Given the description of an element on the screen output the (x, y) to click on. 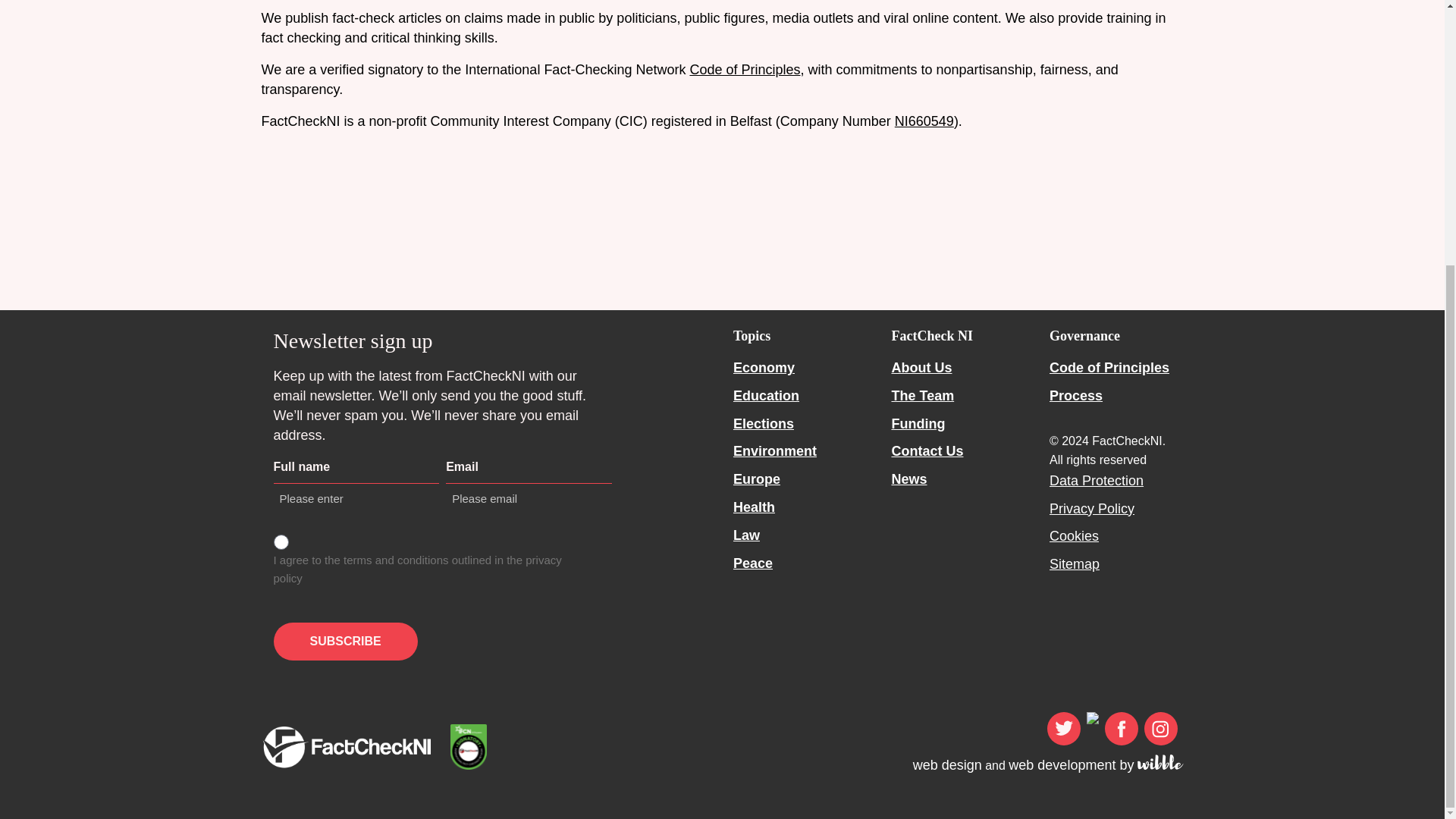
Subscribe (344, 641)
NI660549 (924, 120)
Code of Principles (743, 69)
Education (766, 395)
Environment (774, 450)
We Are Wibble (1160, 761)
Economy (763, 367)
Elections (763, 423)
Subscribe (344, 641)
